Given the description of an element on the screen output the (x, y) to click on. 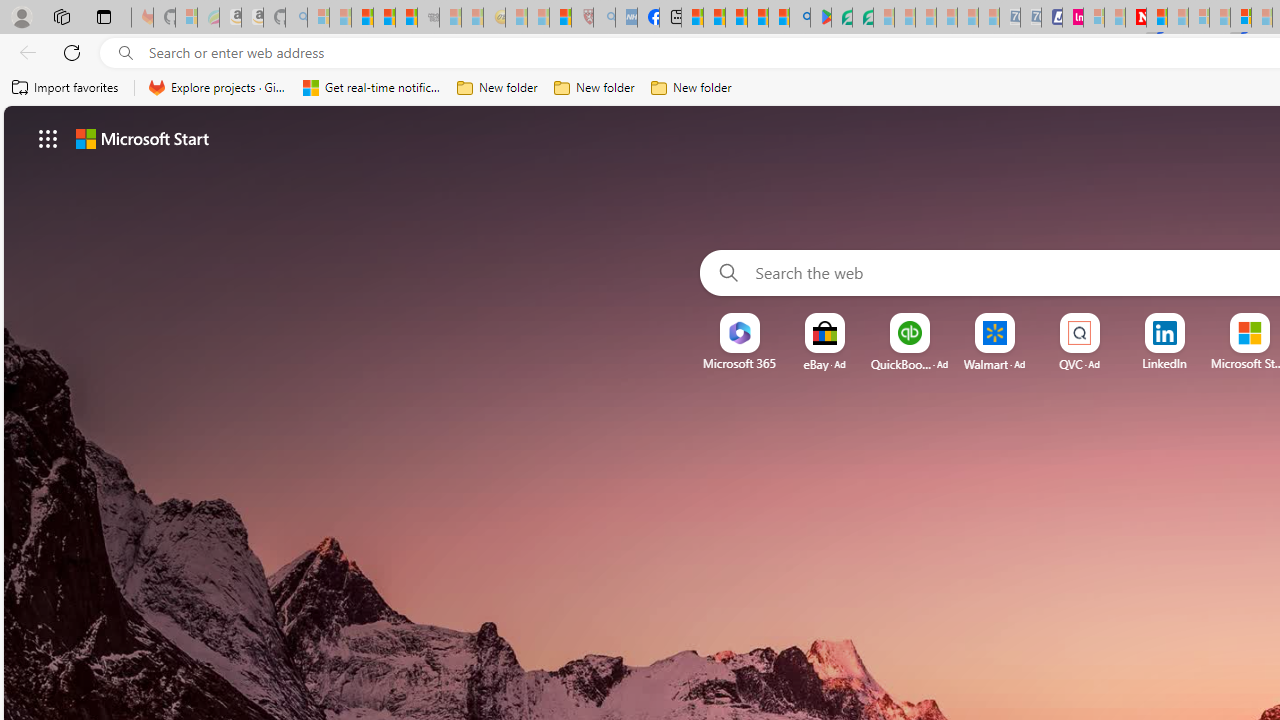
App launcher (47, 138)
Terms of Use Agreement (842, 17)
Search icon (125, 53)
